Given the description of an element on the screen output the (x, y) to click on. 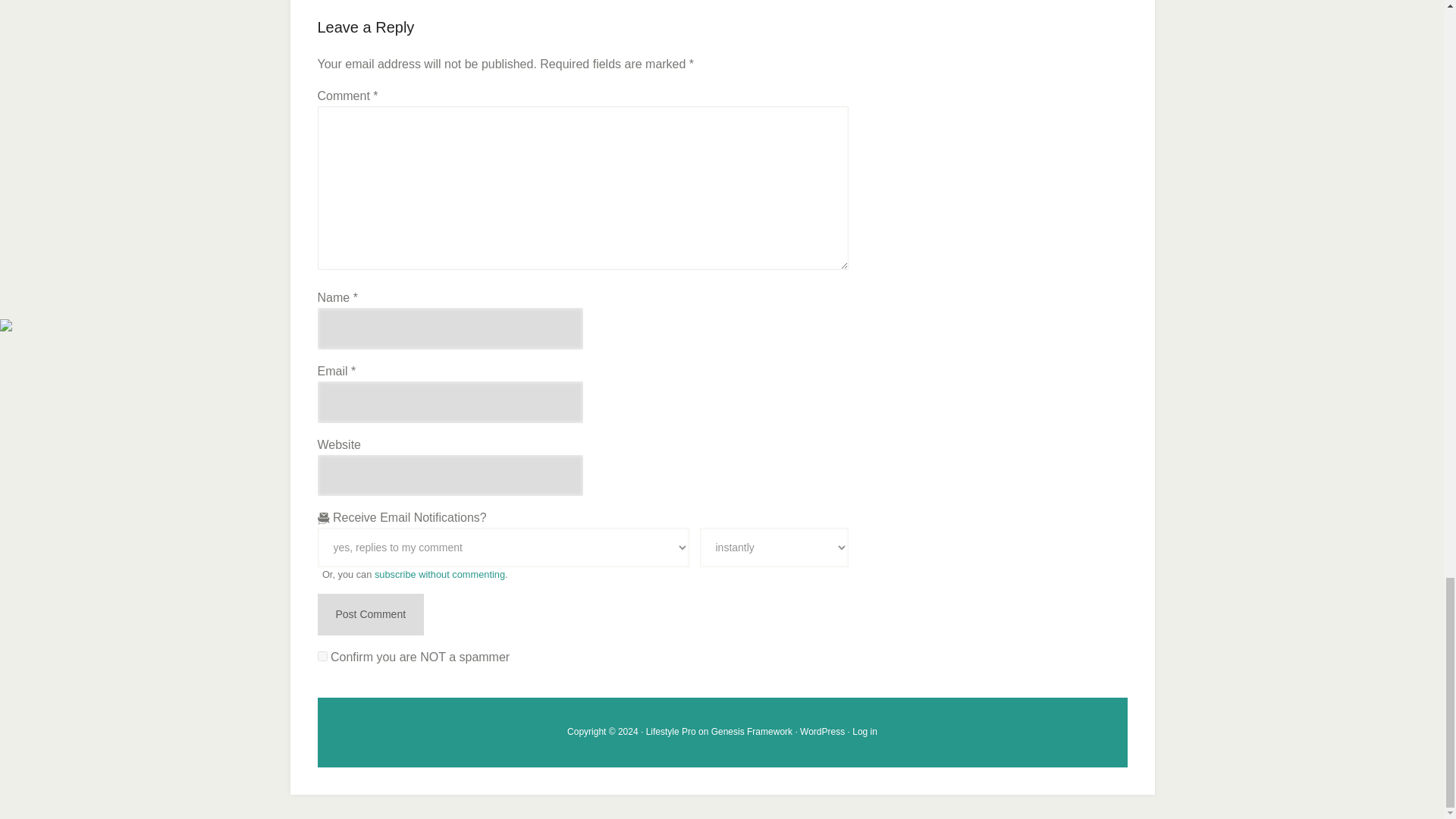
Post Comment (370, 614)
Notify Me (772, 547)
Genesis Framework (751, 731)
WordPress (821, 731)
Post Comment (370, 614)
Lifestyle Pro (670, 731)
subscribe without commenting (439, 573)
Receive Notifications? (502, 547)
on (321, 655)
Log in (864, 731)
